Given the description of an element on the screen output the (x, y) to click on. 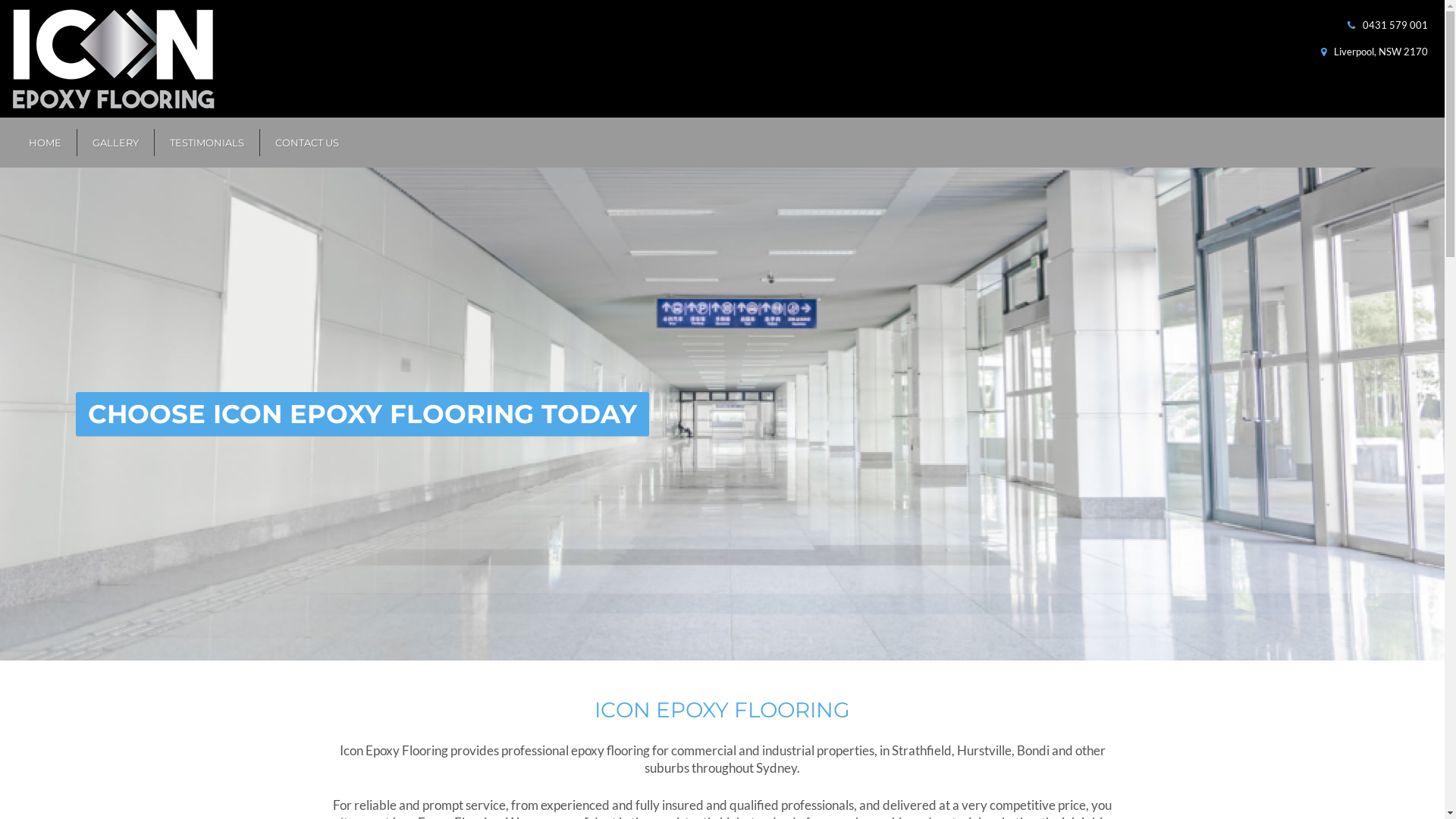
HOME Element type: text (44, 142)
Commercial Epoxy Flooring Surry Hills Element type: hover (722, 413)
GALLERY Element type: text (115, 142)
0431 579 001 Element type: text (1394, 24)
TESTIMONIALS Element type: text (206, 142)
CONTACT US Element type: text (306, 142)
